Given the description of an element on the screen output the (x, y) to click on. 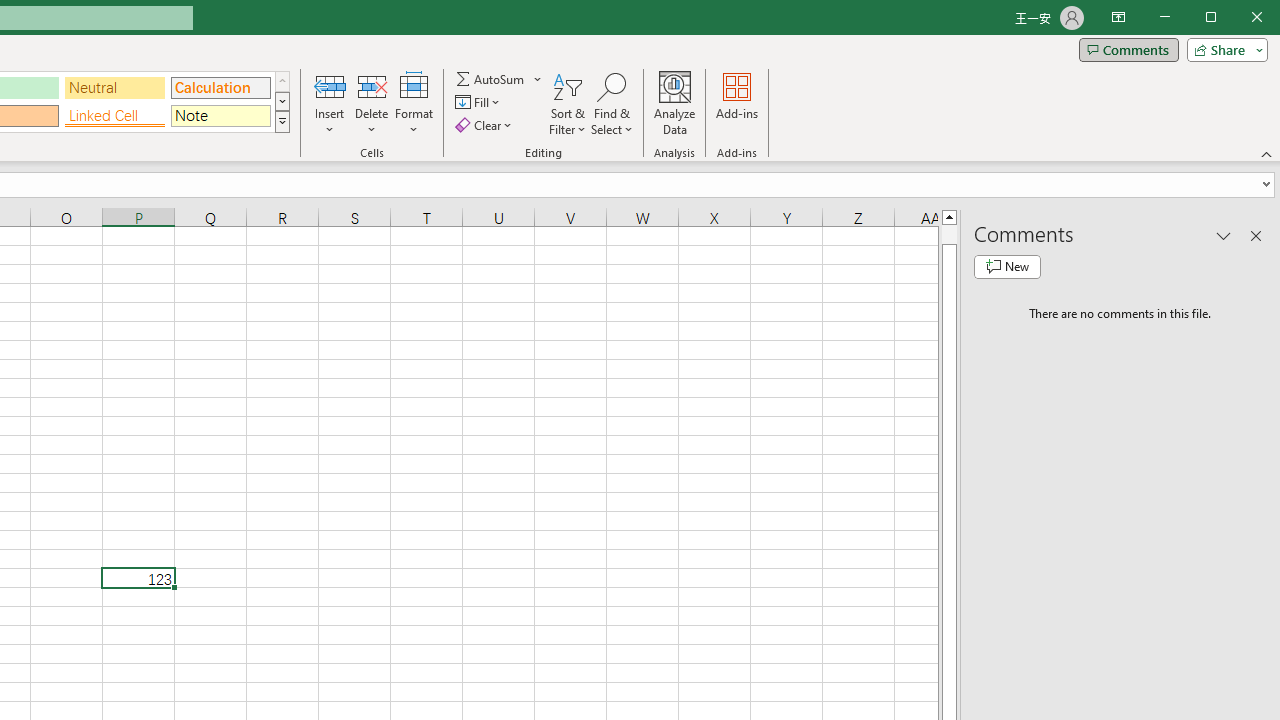
Format (414, 104)
Note (220, 116)
Insert Cells (329, 86)
Maximize (1239, 18)
